Given the description of an element on the screen output the (x, y) to click on. 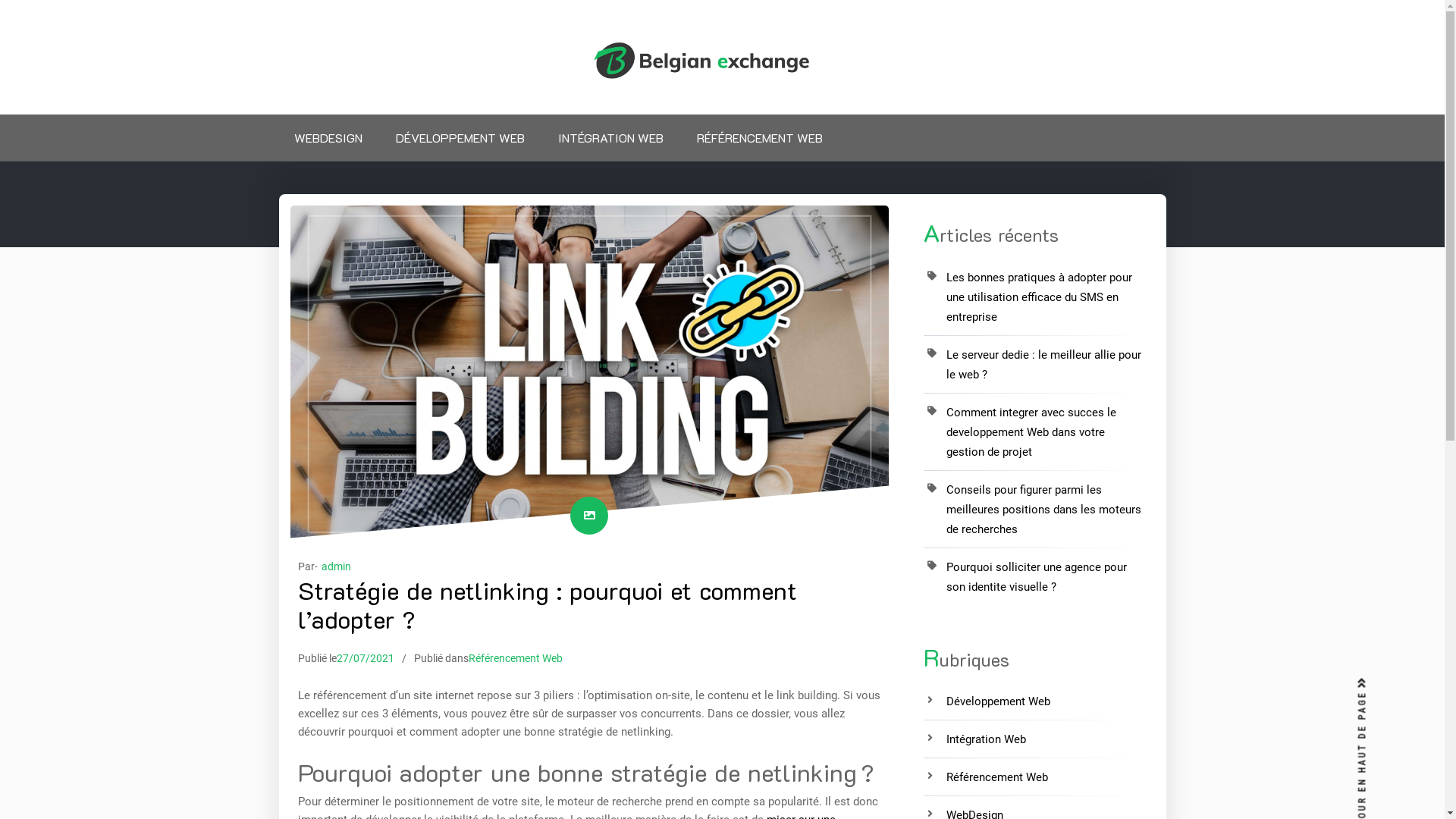
WEBDESIGN Element type: text (328, 137)
Le serveur dedie : le meilleur allie pour le web ? Element type: text (1043, 364)
Pourquoi solliciter une agence pour son identite visuelle ? Element type: text (1036, 576)
admin Element type: text (336, 566)
